Given the description of an element on the screen output the (x, y) to click on. 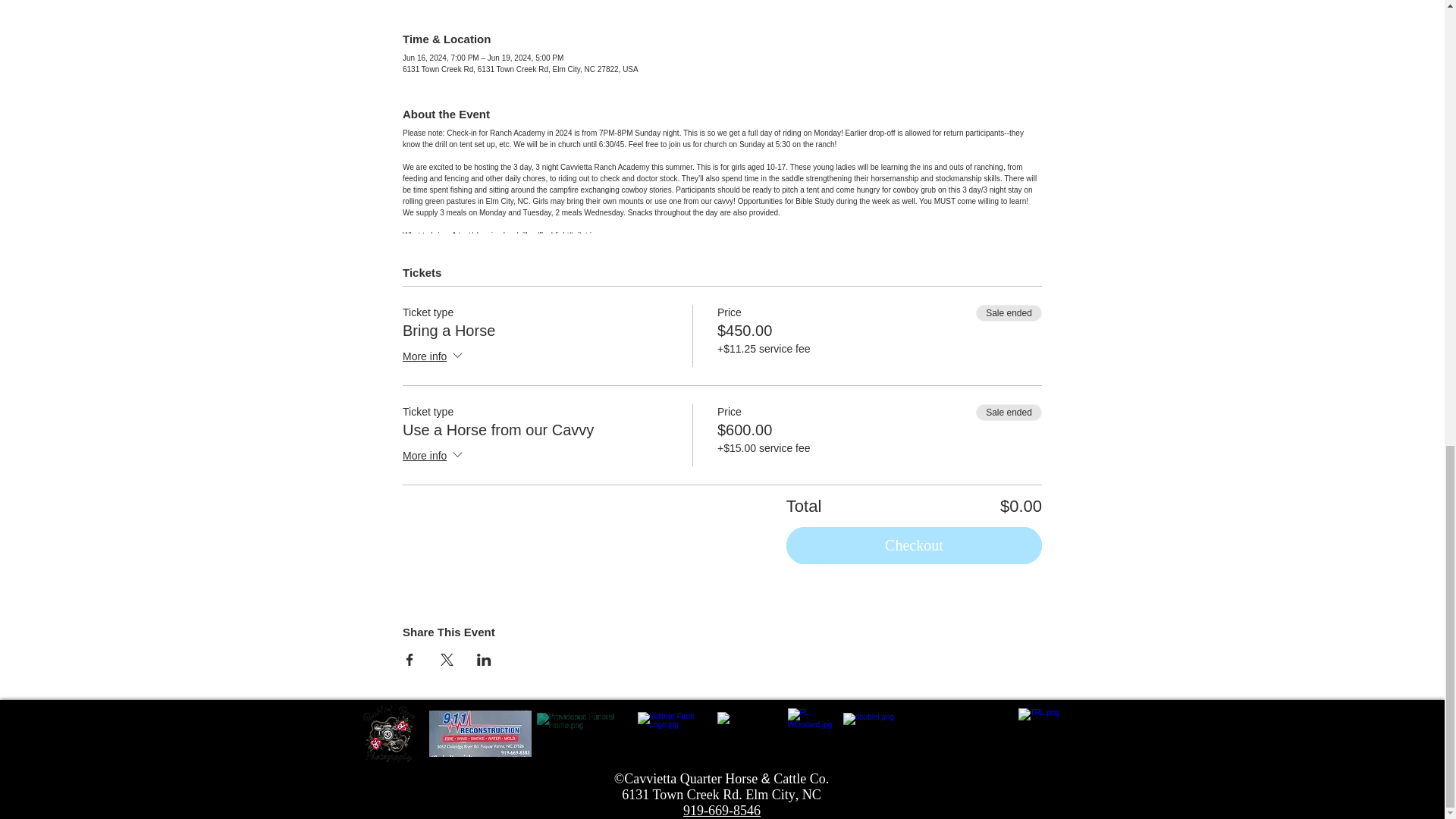
Checkout (914, 545)
More info (434, 456)
More info (434, 356)
919-669-8546 (721, 810)
